Given the description of an element on the screen output the (x, y) to click on. 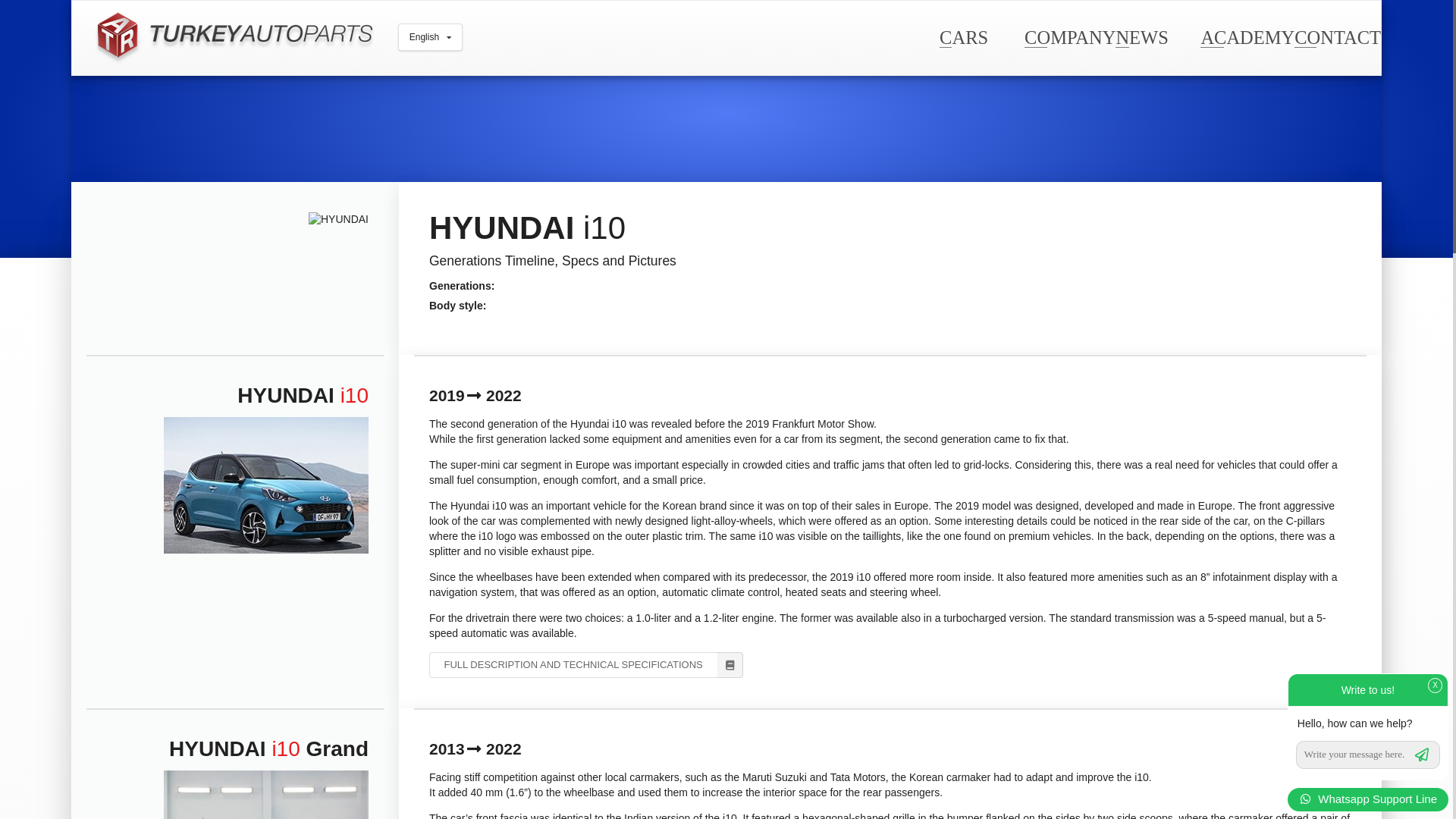
NEWS (1141, 37)
FULL DESCRIPTION AND TECHNICAL SPECIFICATIONS (585, 664)
COMPANY (1070, 37)
ACADEMY (1246, 37)
CONTACT (1337, 37)
CARS (963, 37)
